Given the description of an element on the screen output the (x, y) to click on. 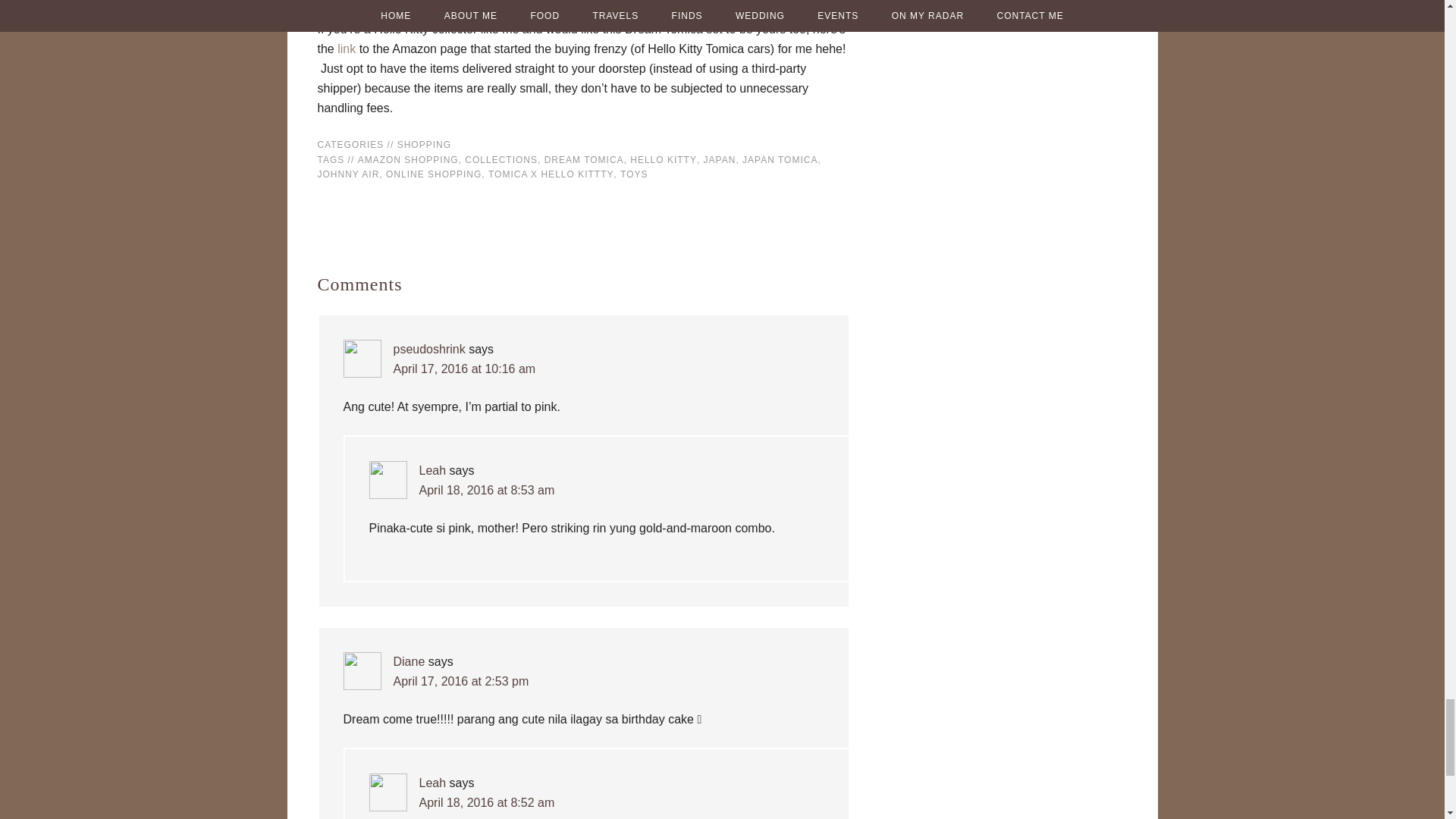
HELLO KITTY (663, 159)
SHOPPING (424, 144)
JAPAN (719, 159)
link (346, 48)
DREAM TOMICA (584, 159)
COLLECTIONS (500, 159)
AMAZON SHOPPING (408, 159)
